Given the description of an element on the screen output the (x, y) to click on. 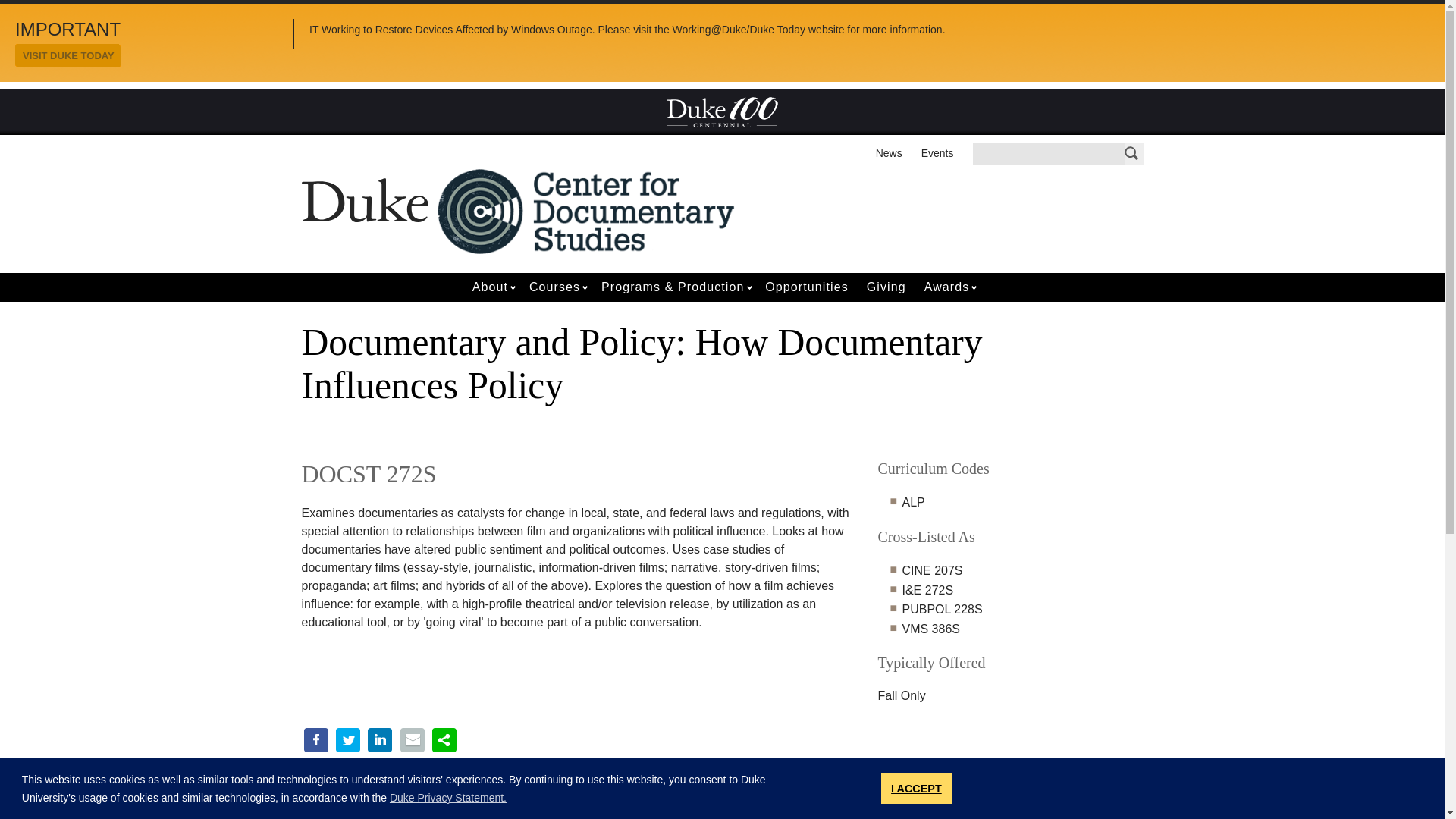
Center for Documentary Studies (586, 210)
Duke Privacy Statement. (448, 797)
I ACCEPT (916, 788)
